Given the description of an element on the screen output the (x, y) to click on. 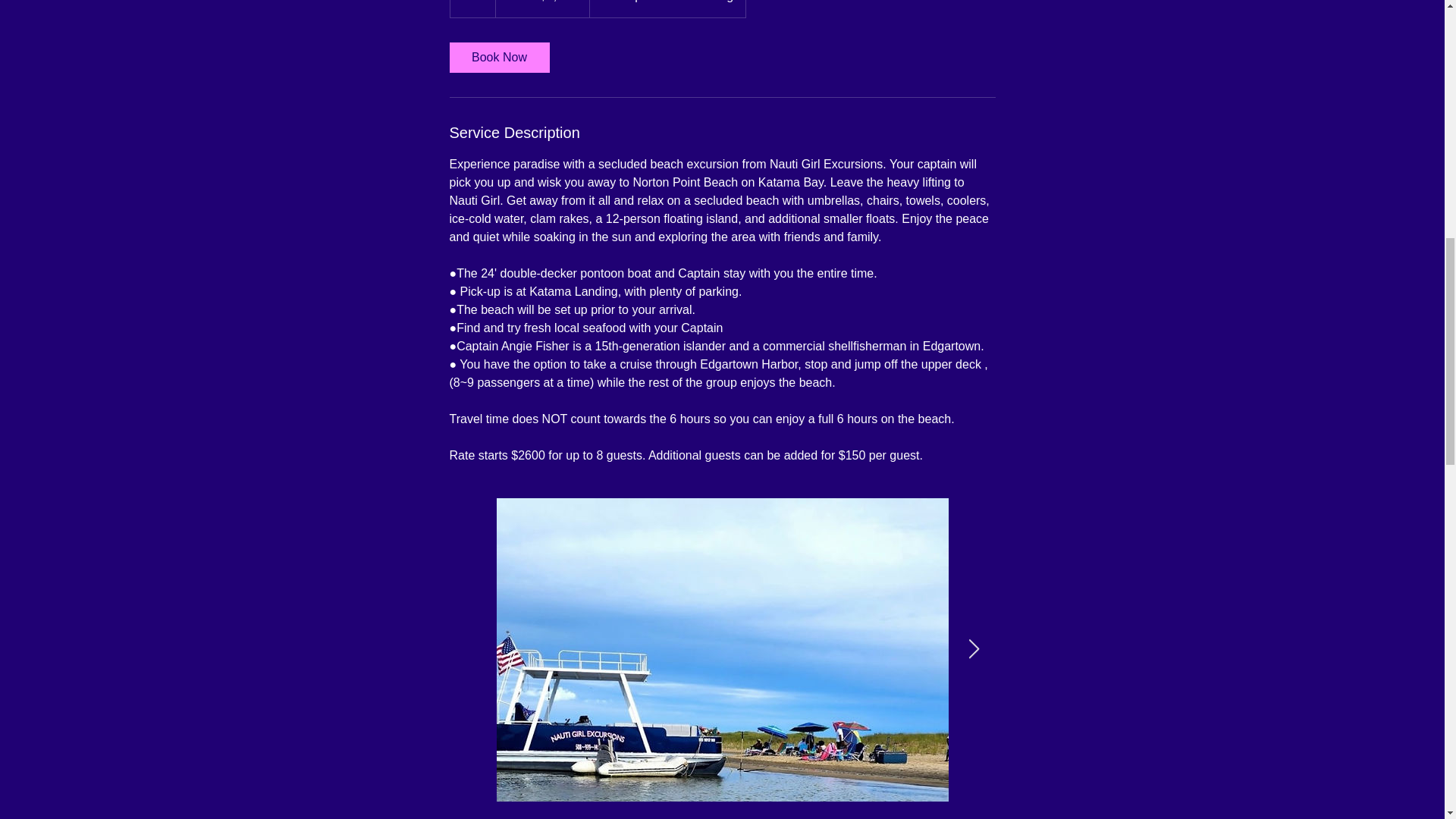
Book Now (498, 57)
